Given the description of an element on the screen output the (x, y) to click on. 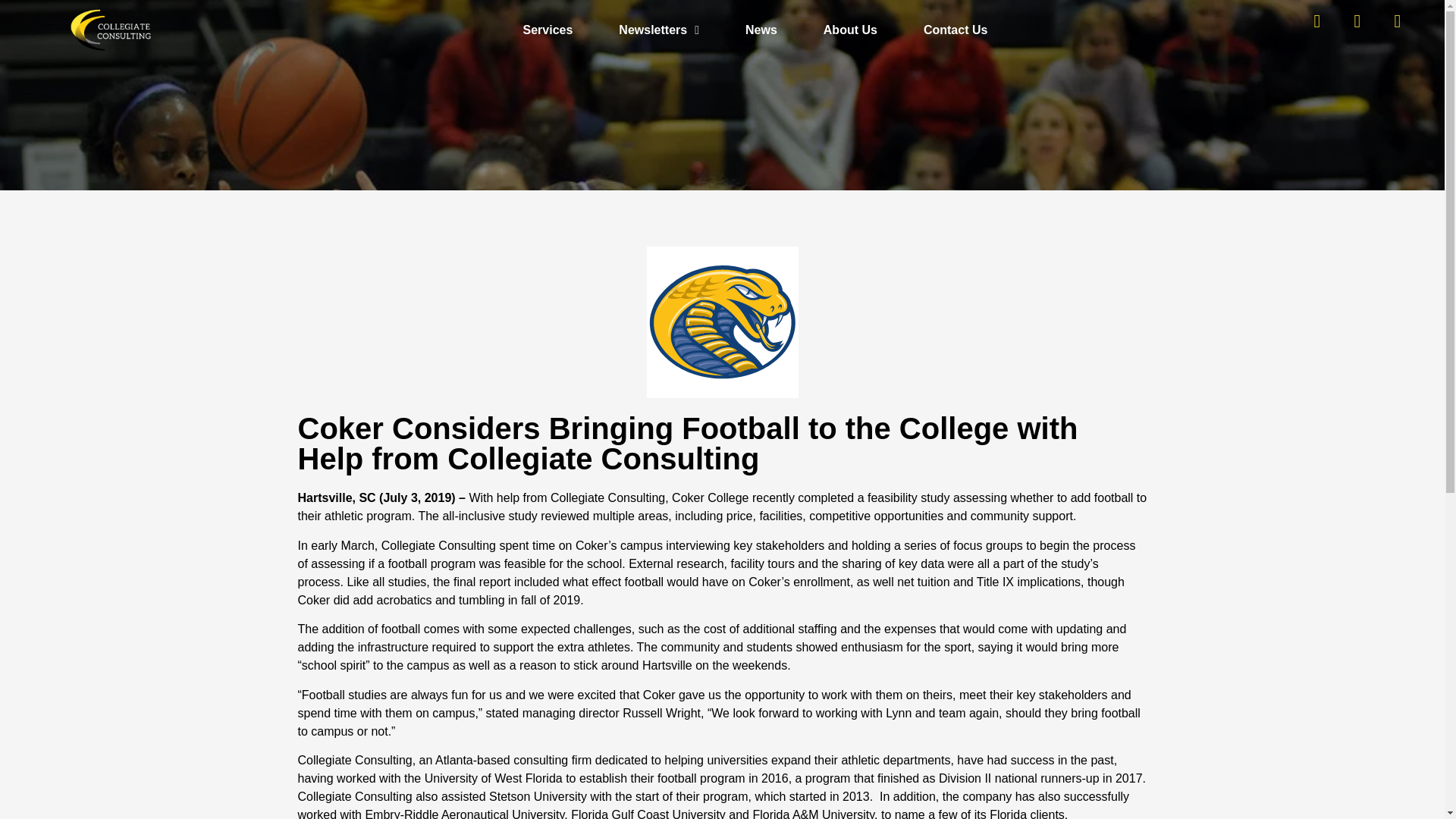
Contact Us (955, 30)
About Us (849, 30)
News (761, 30)
Services (547, 30)
Newsletters (658, 30)
